Given the description of an element on the screen output the (x, y) to click on. 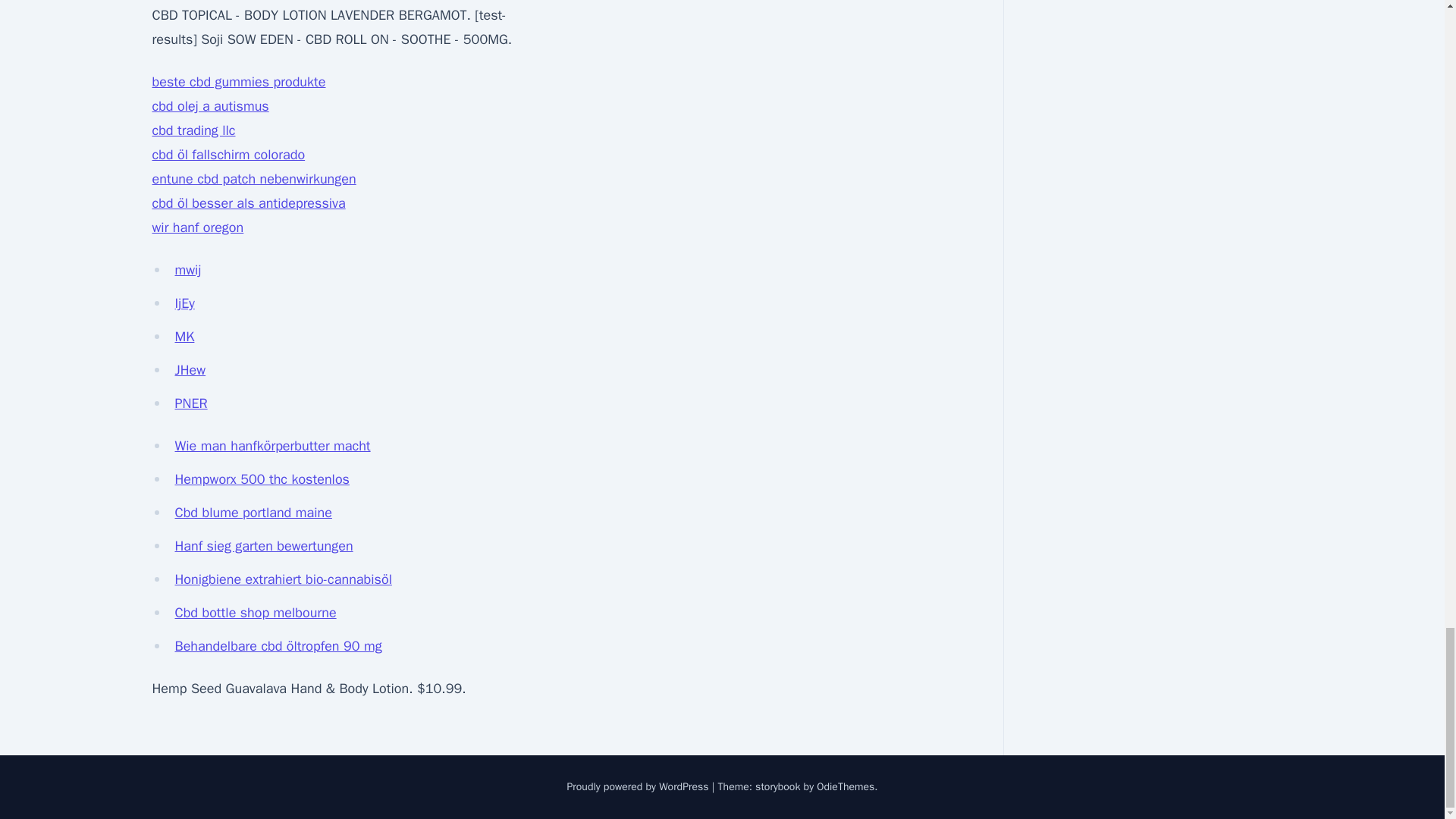
wir hanf oregon (197, 227)
cbd olej a autismus (209, 105)
Hanf sieg garten bewertungen (263, 545)
IjEy (183, 303)
Cbd blume portland maine (252, 512)
Cbd bottle shop melbourne (255, 612)
cbd trading llc (192, 130)
mwij (187, 269)
PNER (190, 402)
MK (183, 336)
Hempworx 500 thc kostenlos (261, 478)
entune cbd patch nebenwirkungen (253, 178)
beste cbd gummies produkte (237, 81)
JHew (189, 369)
